Given the description of an element on the screen output the (x, y) to click on. 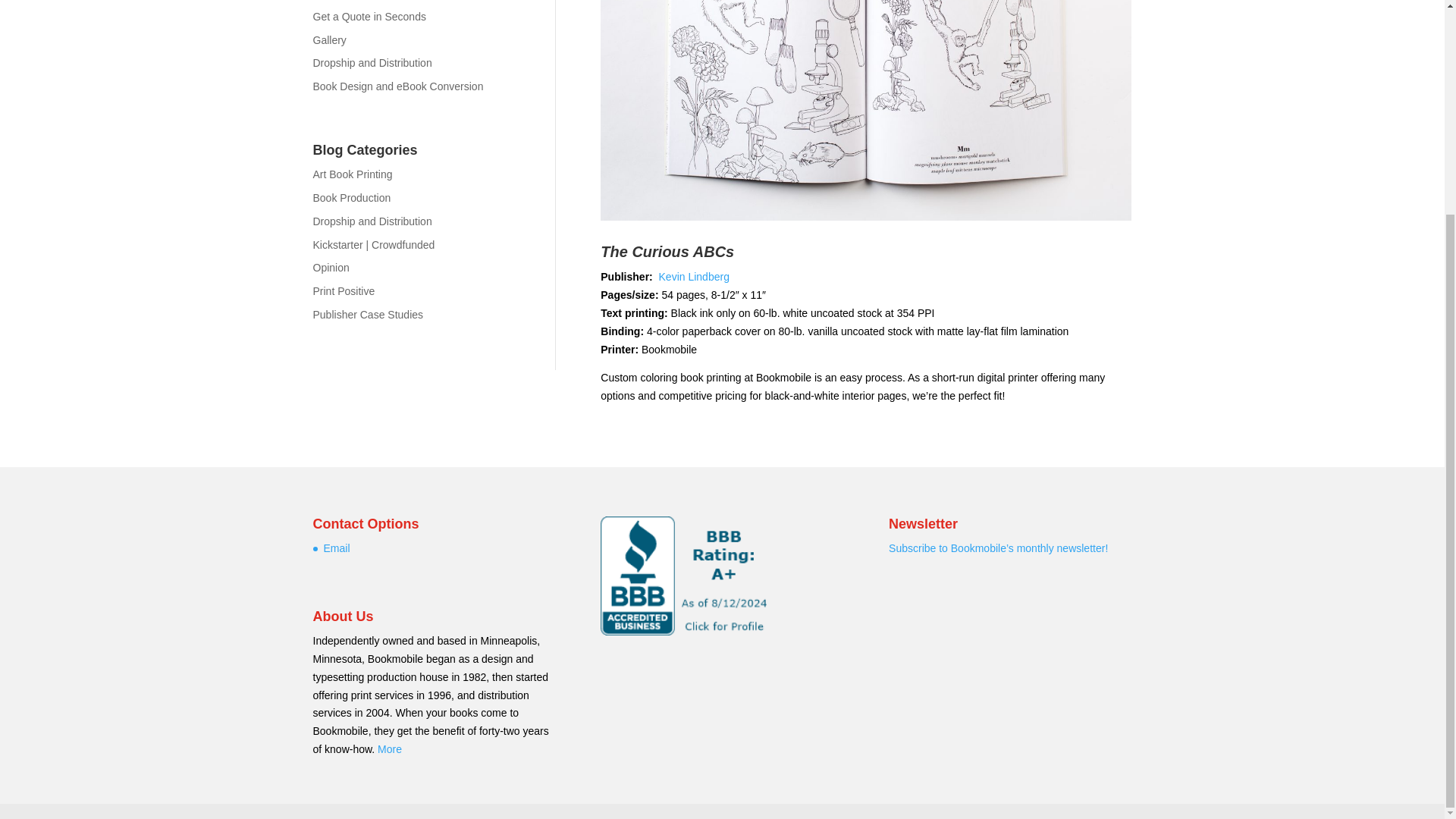
Book Design and eBook Conversion (398, 86)
Dropship and Distribution (371, 221)
Opinion (331, 267)
Kevin Lindberg (694, 276)
Get a Quote in Seconds (369, 16)
Dropship and Distribution (371, 62)
Publisher Case Studies (368, 314)
Gallery (329, 39)
Art Book Printing (352, 174)
Print Positive (343, 291)
